Given the description of an element on the screen output the (x, y) to click on. 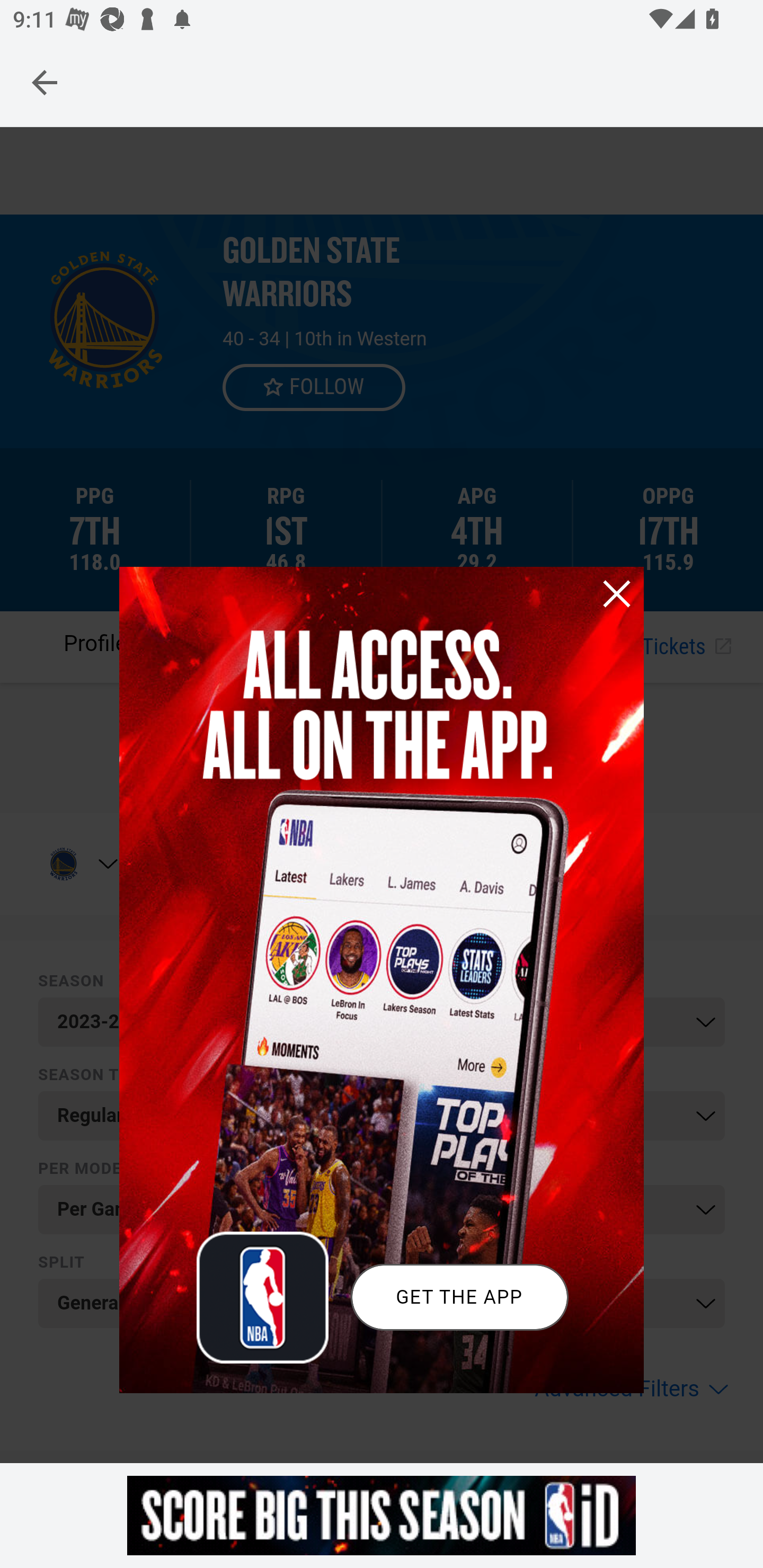
Navigate up (44, 82)
close download dialog (616, 593)
GET THE APP (458, 1297)
g5nqqygr7owph (381, 1515)
